Given the description of an element on the screen output the (x, y) to click on. 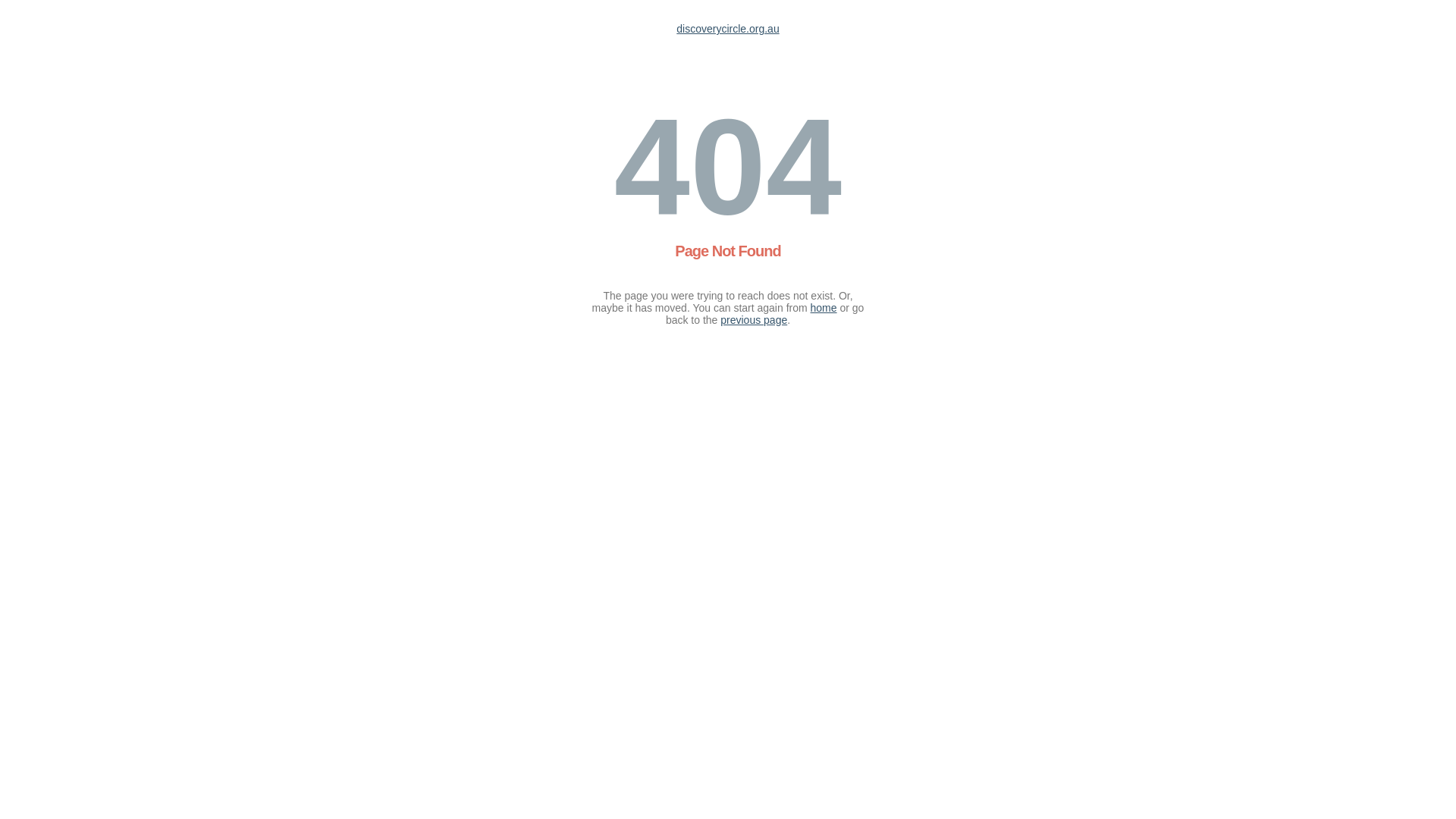
discoverycircle.org.au Element type: text (727, 28)
home Element type: text (823, 307)
previous page Element type: text (753, 319)
